Given the description of an element on the screen output the (x, y) to click on. 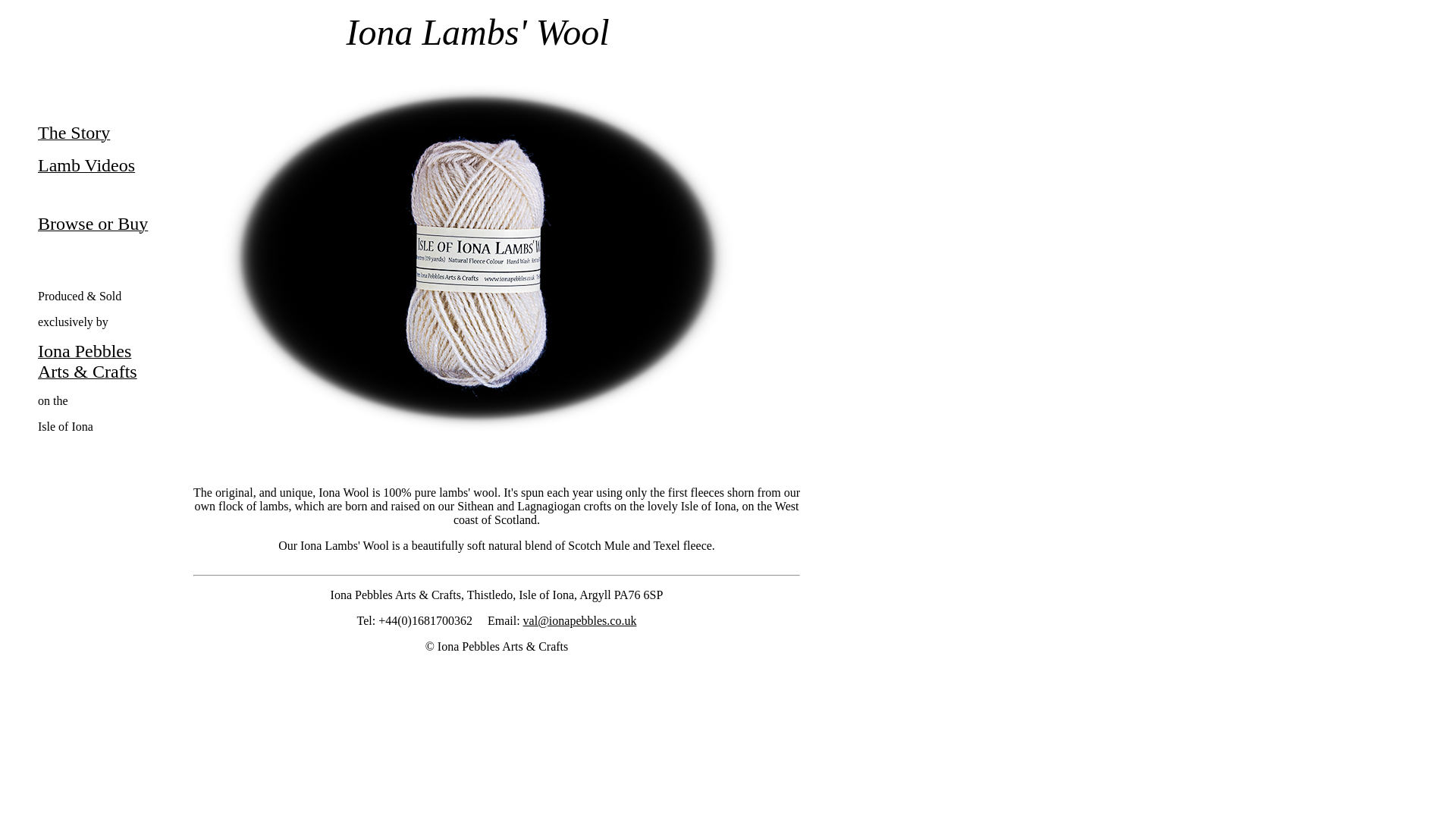
The Story (73, 133)
Browse or Buy (92, 225)
Lamb Videos (86, 166)
